Given the description of an element on the screen output the (x, y) to click on. 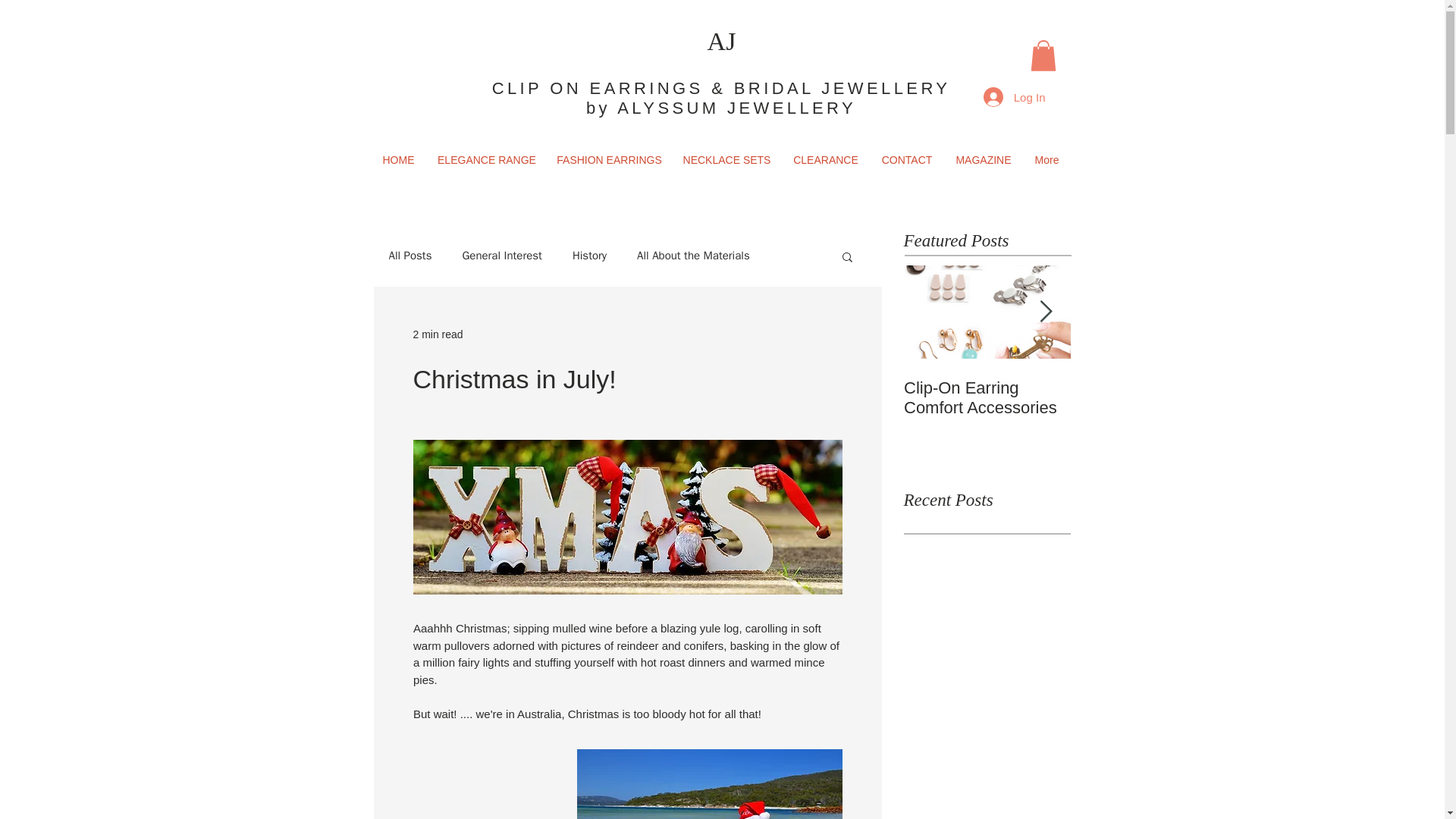
CONTACT (906, 159)
MAGAZINE (983, 159)
CLEARANCE (826, 159)
FASHION EARRINGS (609, 159)
Log In (1014, 96)
NECKLACE SETS (727, 159)
ELEGANCE RANGE (486, 159)
2 min read (437, 334)
AJ (721, 40)
HOME (397, 159)
